Given the description of an element on the screen output the (x, y) to click on. 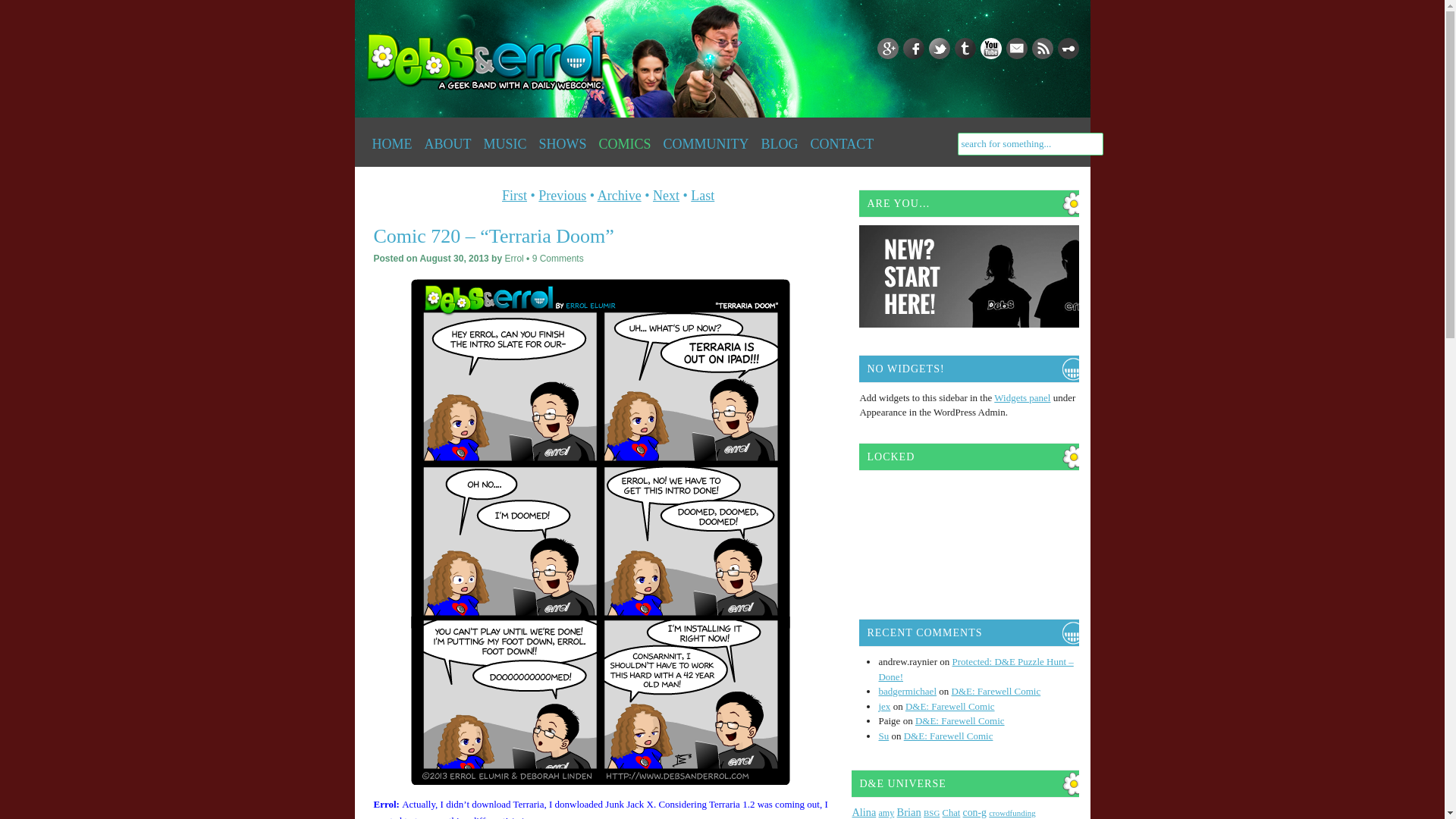
First (514, 195)
Archive (619, 195)
View all posts by Errol (512, 258)
COMMUNITY (706, 143)
Previous (562, 195)
MUSIC (504, 143)
SHOWS (562, 143)
search for something... (1029, 143)
HOME (391, 143)
Errol (512, 258)
